Given the description of an element on the screen output the (x, y) to click on. 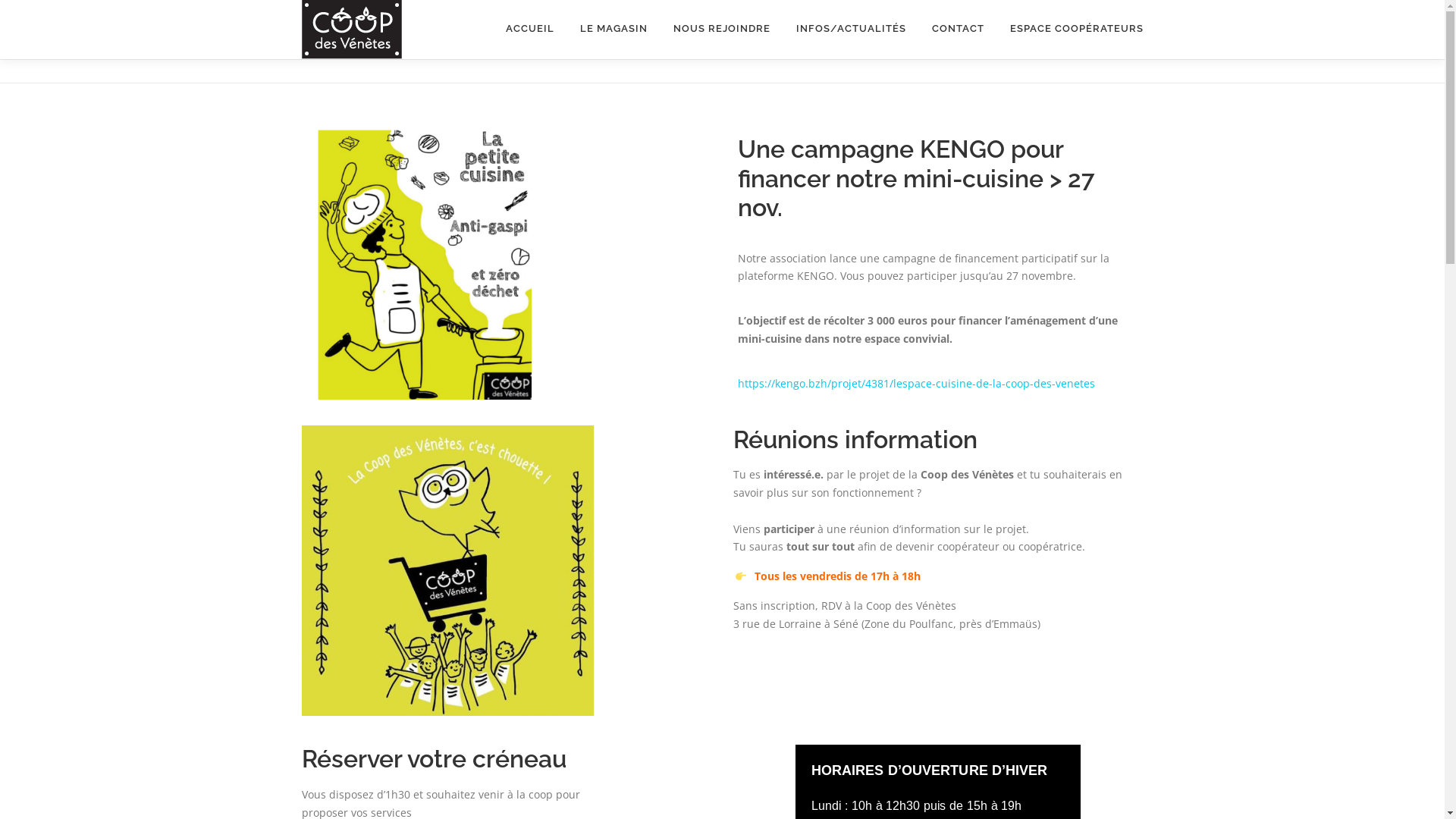
NOUS REJOINDRE Element type: text (720, 28)
ACCUEIL Element type: text (529, 28)
LE MAGASIN Element type: text (613, 28)
CONTACT Element type: text (958, 28)
